Given the description of an element on the screen output the (x, y) to click on. 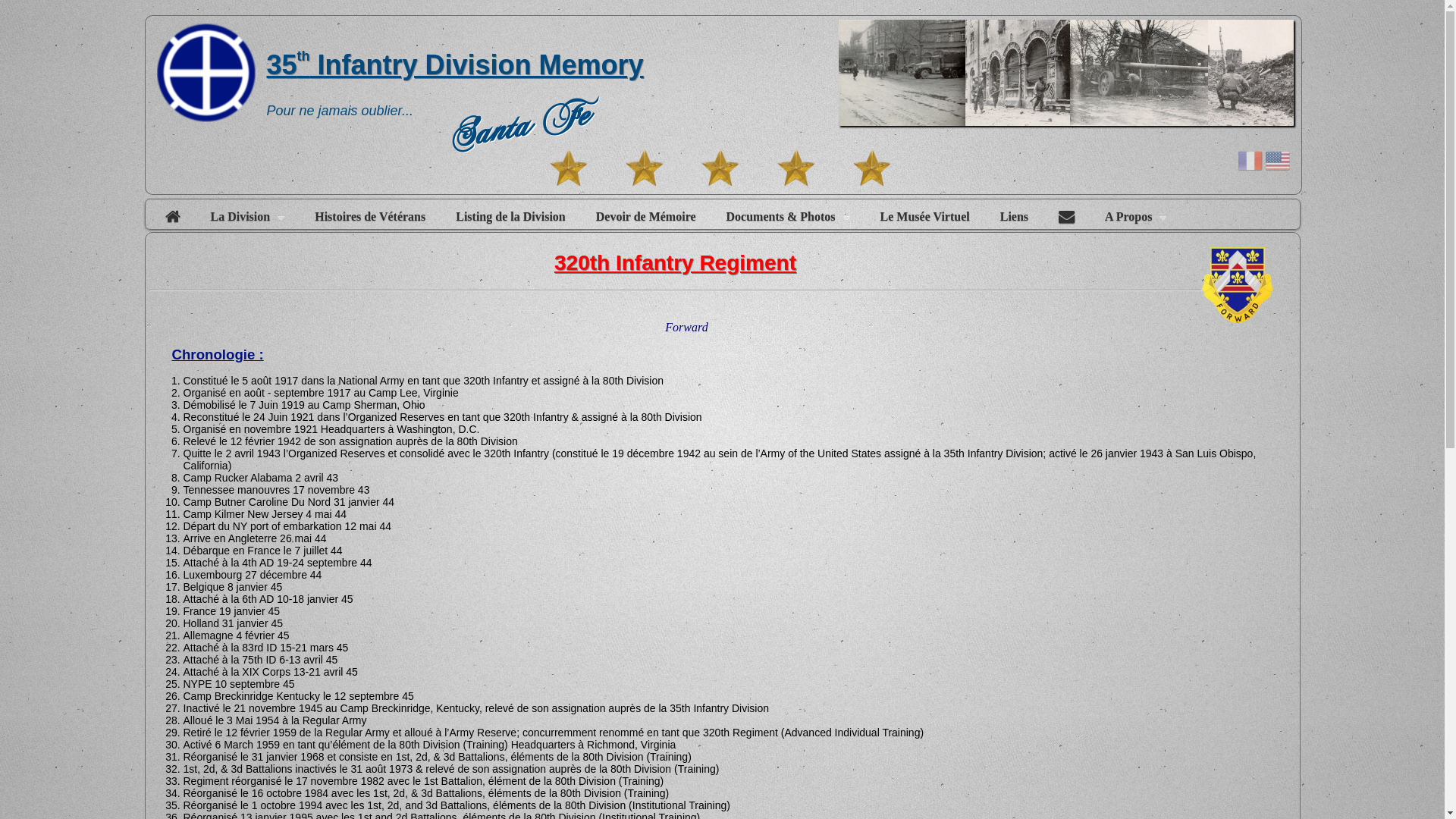
Liens Element type: text (1014, 216)
Listing de la Division Element type: text (510, 216)
A Propos Element type: text (1135, 216)
Documents & Photos Element type: text (788, 216)
La Division Element type: text (247, 216)
